Given the description of an element on the screen output the (x, y) to click on. 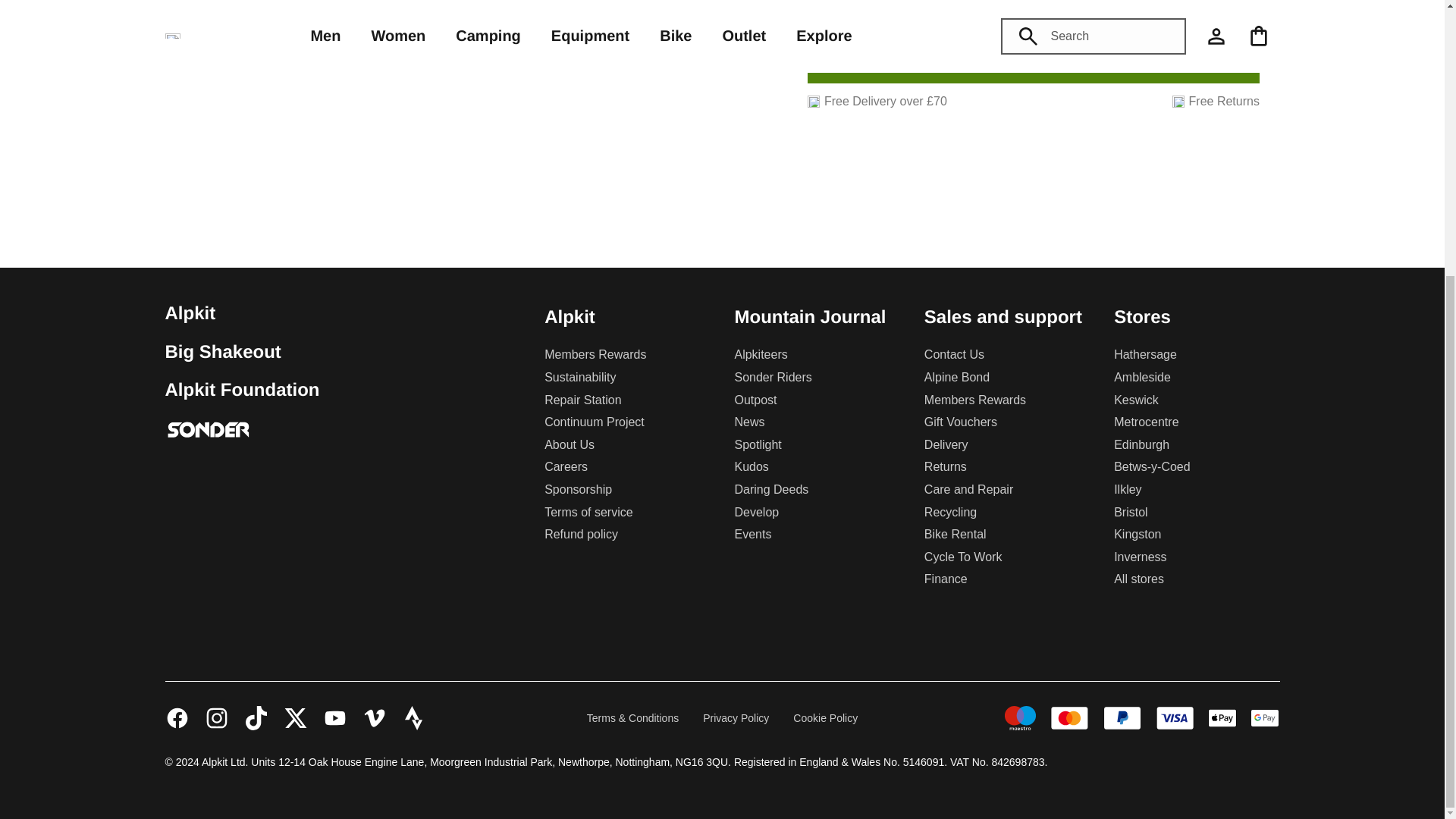
Alpkit - Strava (413, 717)
Alpkit - Instagram (216, 717)
Alpkit - TikTok (255, 717)
1 (862, 10)
Alpkit - Vimeo (374, 717)
Alpkit - YouTube (335, 717)
Alpkit - Facebook (177, 717)
Alpkit - X (295, 717)
